Given the description of an element on the screen output the (x, y) to click on. 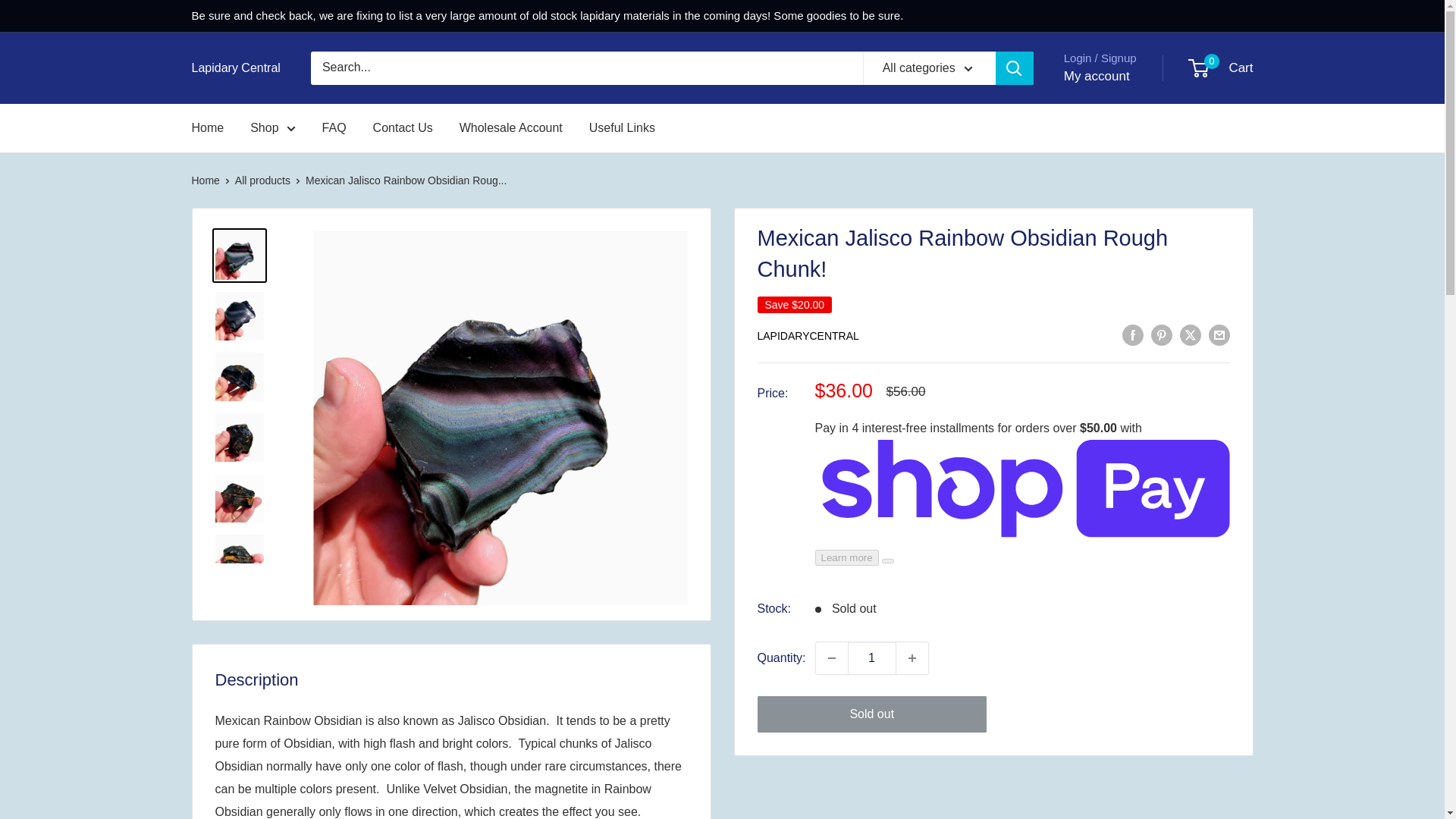
Home (1221, 68)
Increase quantity by 1 (207, 128)
Shop (912, 658)
1 (272, 128)
My account (871, 658)
Lapidary Central (1096, 76)
Decrease quantity by 1 (234, 67)
